Given the description of an element on the screen output the (x, y) to click on. 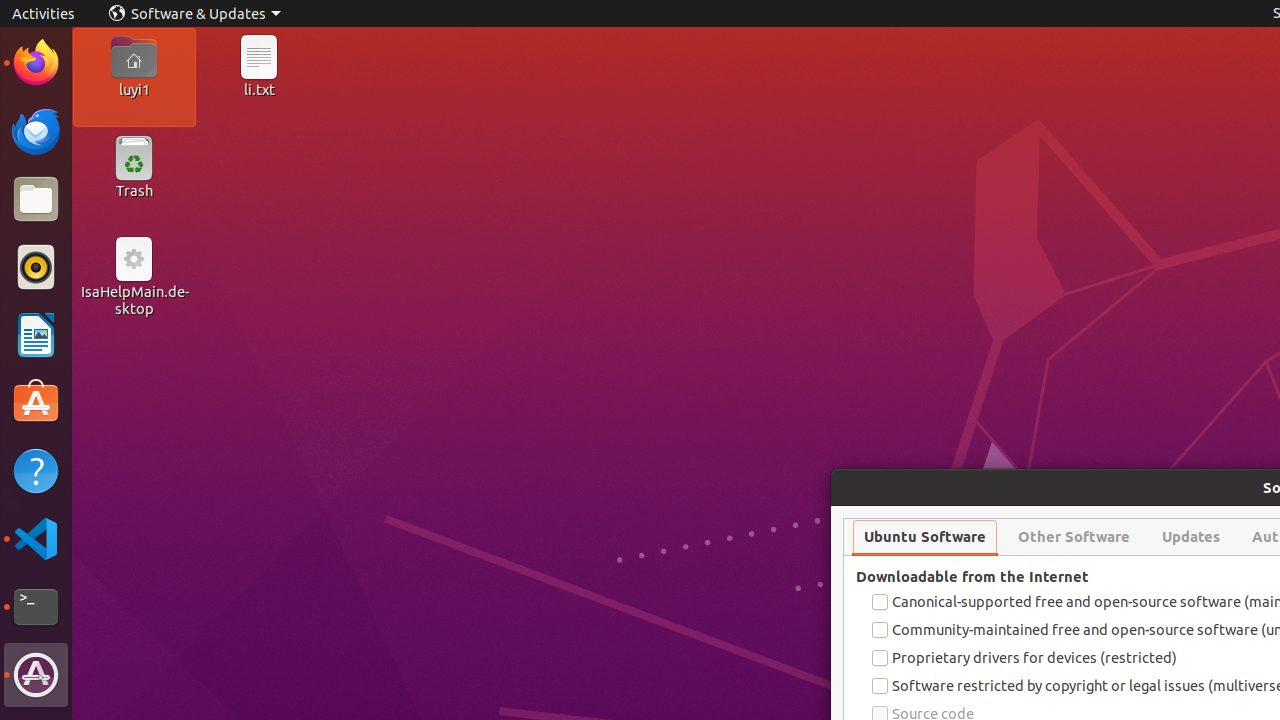
Terminal Element type: push-button (36, 607)
Firefox Web Browser Element type: push-button (36, 63)
Trash Element type: label (133, 191)
